Given the description of an element on the screen output the (x, y) to click on. 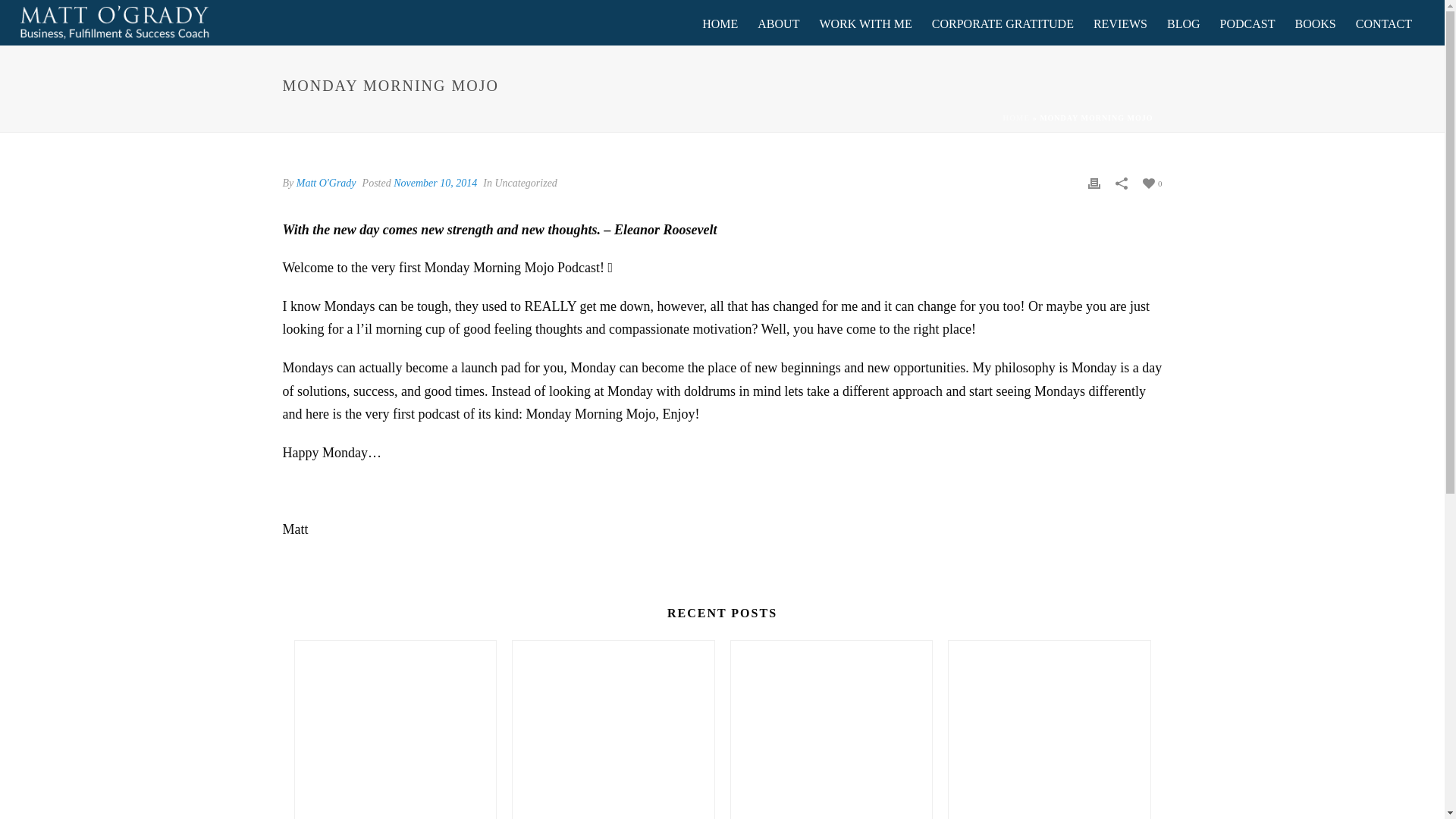
HOME (1016, 117)
November 10, 2014 (435, 183)
CORPORATE GRATITUDE (1002, 22)
BLOG (1183, 22)
CONTACT (1383, 22)
WORK WITH ME (865, 22)
Matt O'Grady (326, 183)
ABOUT (778, 22)
Tailoring a Self-Care Regimen for Introverted Individuals (613, 722)
REVIEWS (1120, 22)
